Given the description of an element on the screen output the (x, y) to click on. 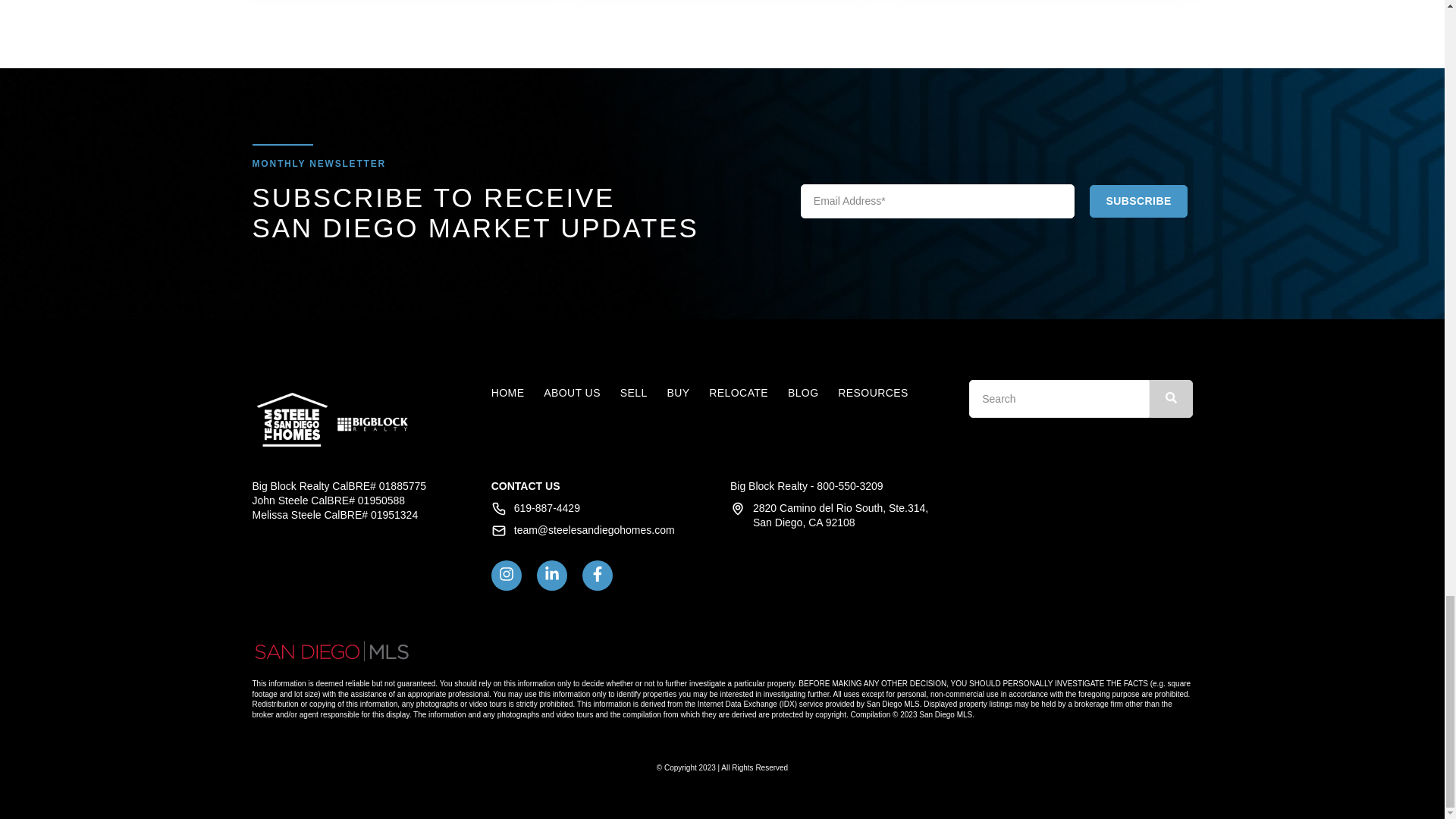
HOME (508, 392)
BUY (677, 392)
619-887-4429 (546, 508)
BLOG (802, 392)
RELOCATE (738, 392)
SELL (633, 392)
ABOUT US (571, 392)
Subscribe (1137, 201)
RESOURCES (872, 392)
Subscribe (1137, 201)
